Given the description of an element on the screen output the (x, y) to click on. 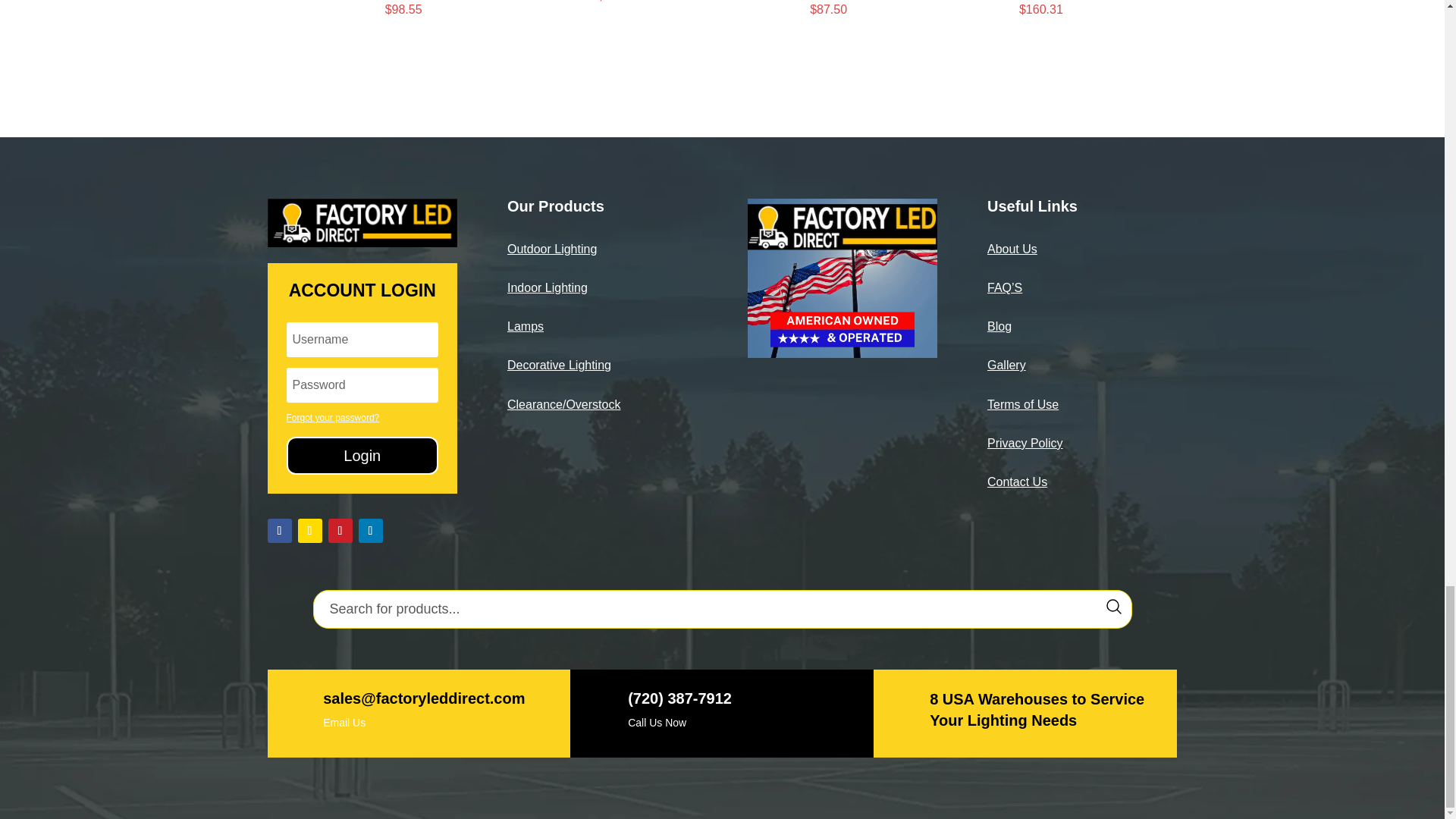
Follow on LinkedIn (369, 530)
USA owned and operated (842, 278)
Follow on Google (309, 530)
Follow on Facebook (278, 530)
Follow on Pinterest (339, 530)
